Given the description of an element on the screen output the (x, y) to click on. 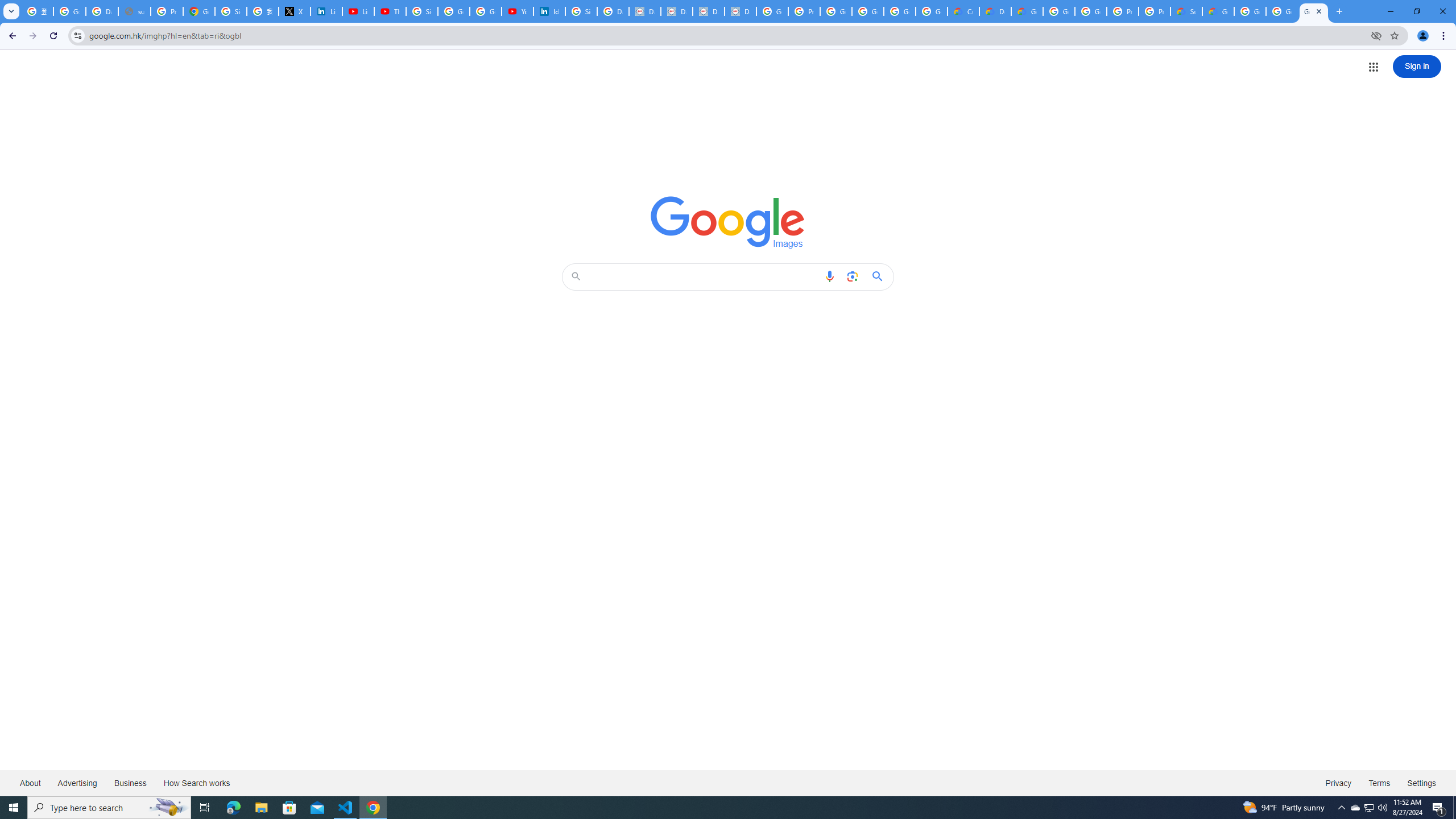
Privacy Help Center - Policies Help (166, 11)
X (294, 11)
Advertising (77, 782)
Data Privacy Framework (740, 11)
Google Images (1313, 11)
Google Cloud Service Health (1217, 11)
